Given the description of an element on the screen output the (x, y) to click on. 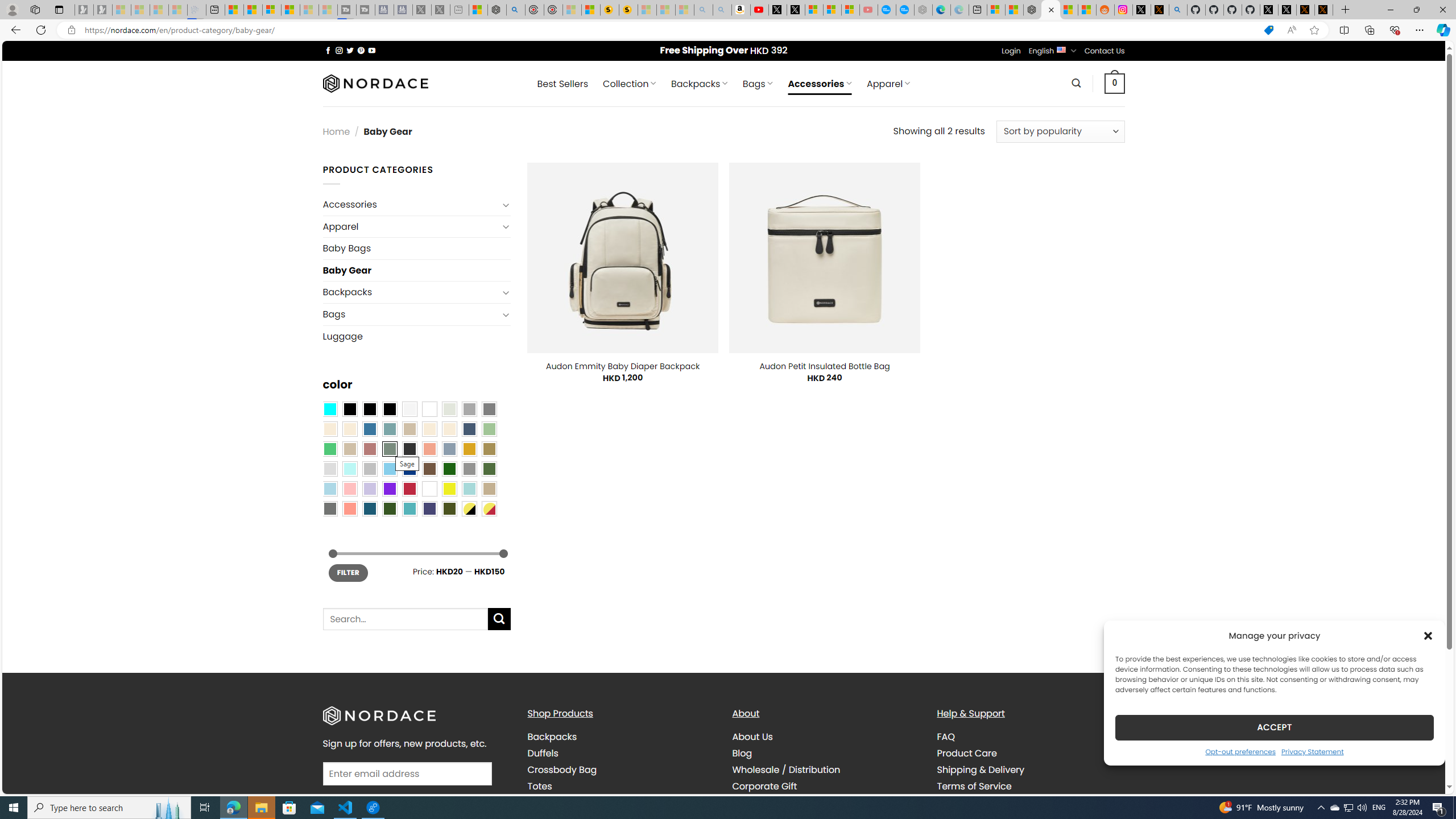
Bags (410, 314)
Gold (468, 448)
Dull Nickle (329, 508)
Pink (349, 488)
Brownie (408, 428)
Emerald Green (329, 448)
Privacy Statement (1312, 750)
